Given the description of an element on the screen output the (x, y) to click on. 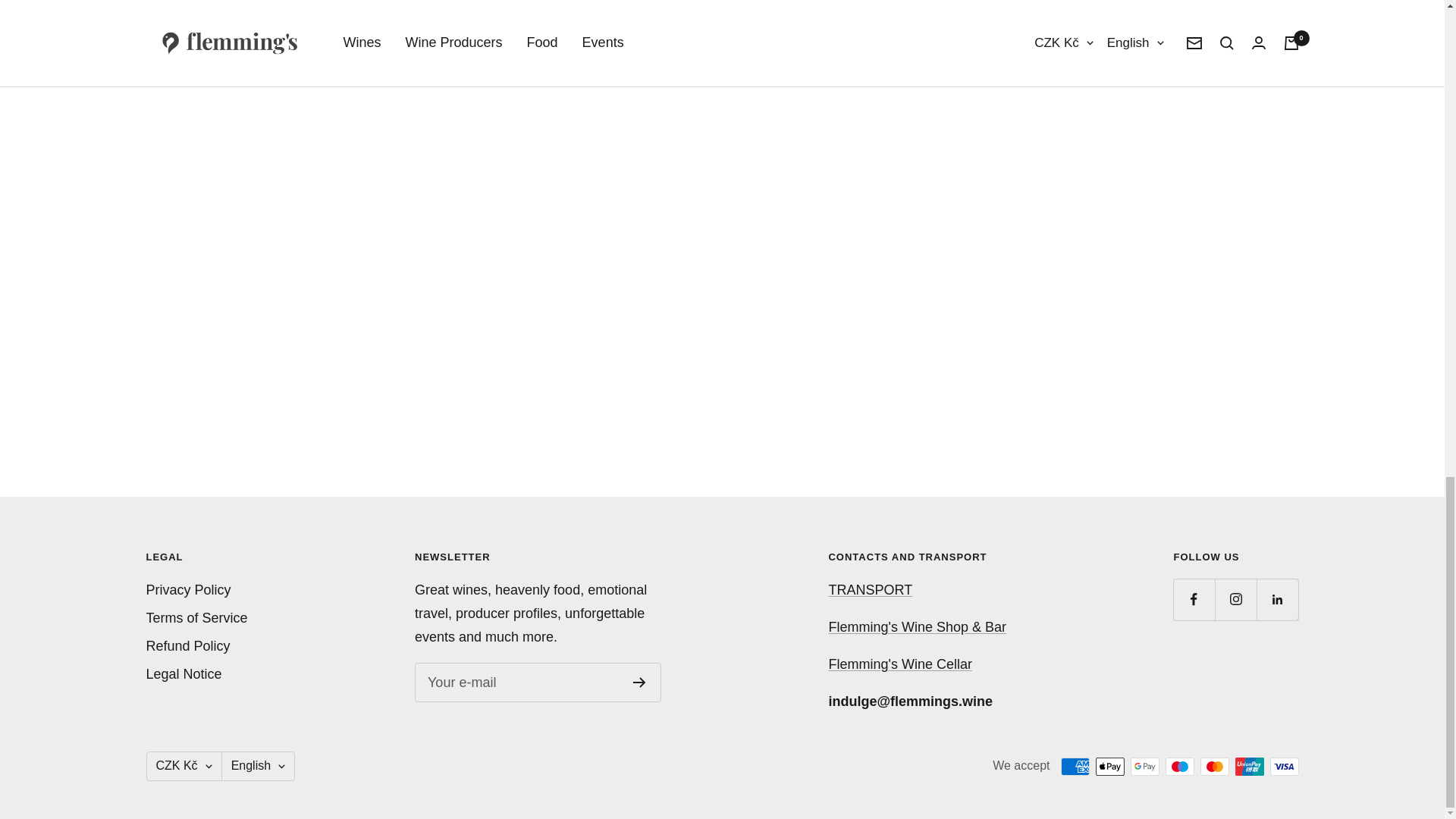
Contacts Velkoobchod (899, 663)
Register (639, 682)
TRANSPORT (870, 589)
Contacts (917, 626)
